Given the description of an element on the screen output the (x, y) to click on. 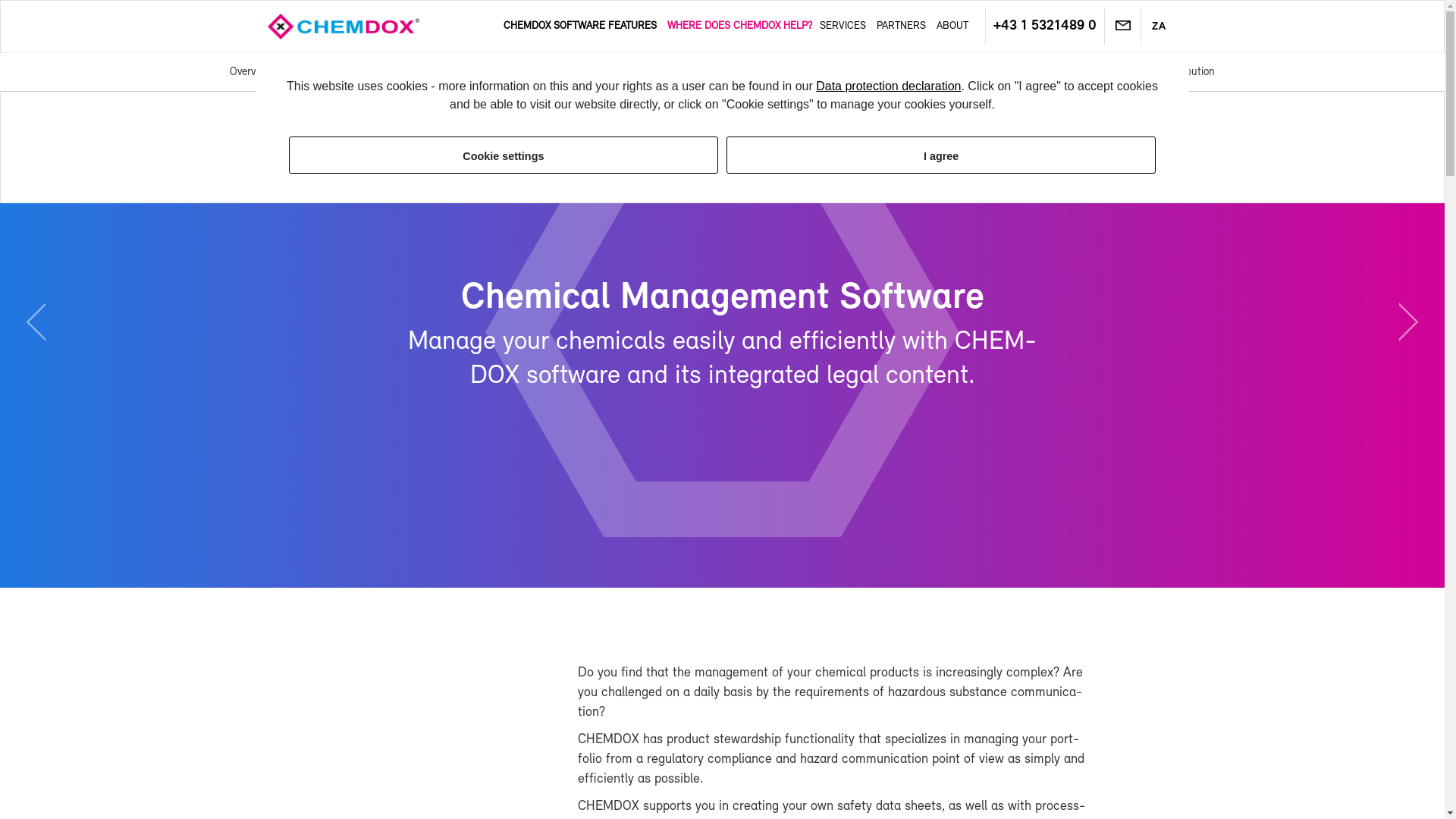
ZA (1158, 27)
Data protection declaration (887, 85)
I agree (941, 154)
Cookie settings (502, 154)
Telephone (1044, 26)
Overview (249, 71)
Safety Data Sheets - SDS (508, 71)
